Given the description of an element on the screen output the (x, y) to click on. 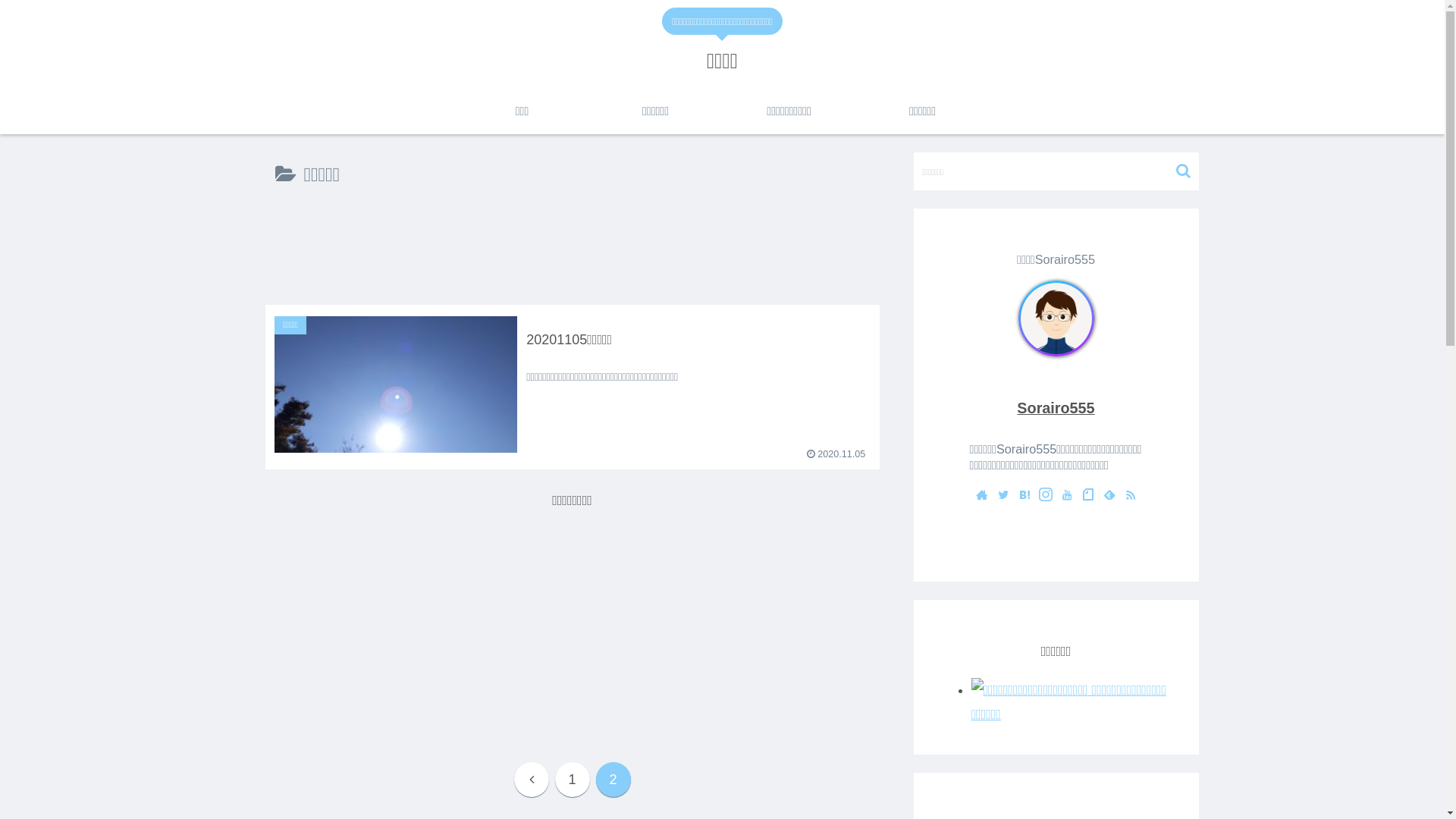
Sorairo555 Element type: text (1055, 407)
1 Element type: text (572, 779)
